Given the description of an element on the screen output the (x, y) to click on. 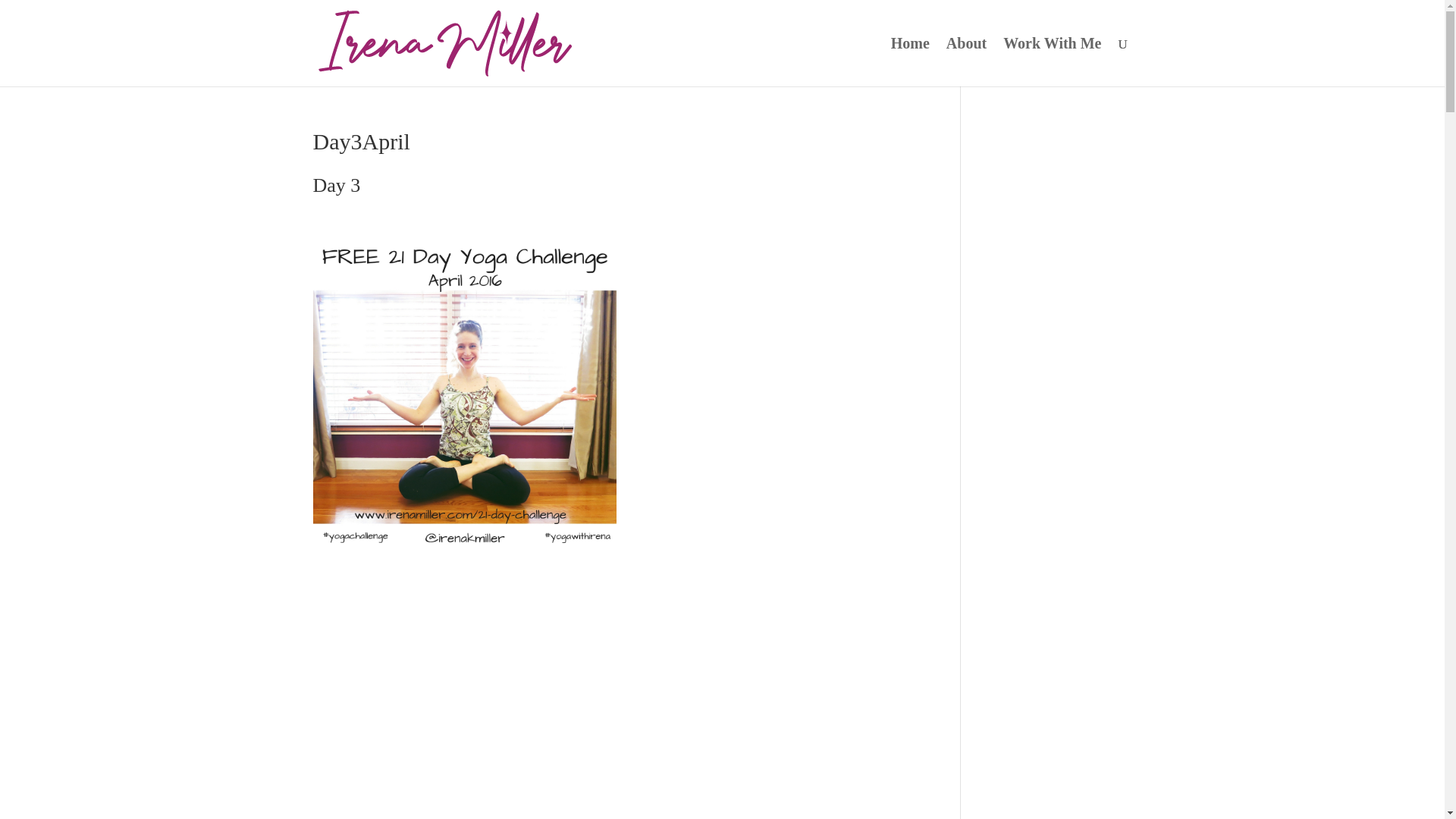
Work With Me (1051, 61)
